Given the description of an element on the screen output the (x, y) to click on. 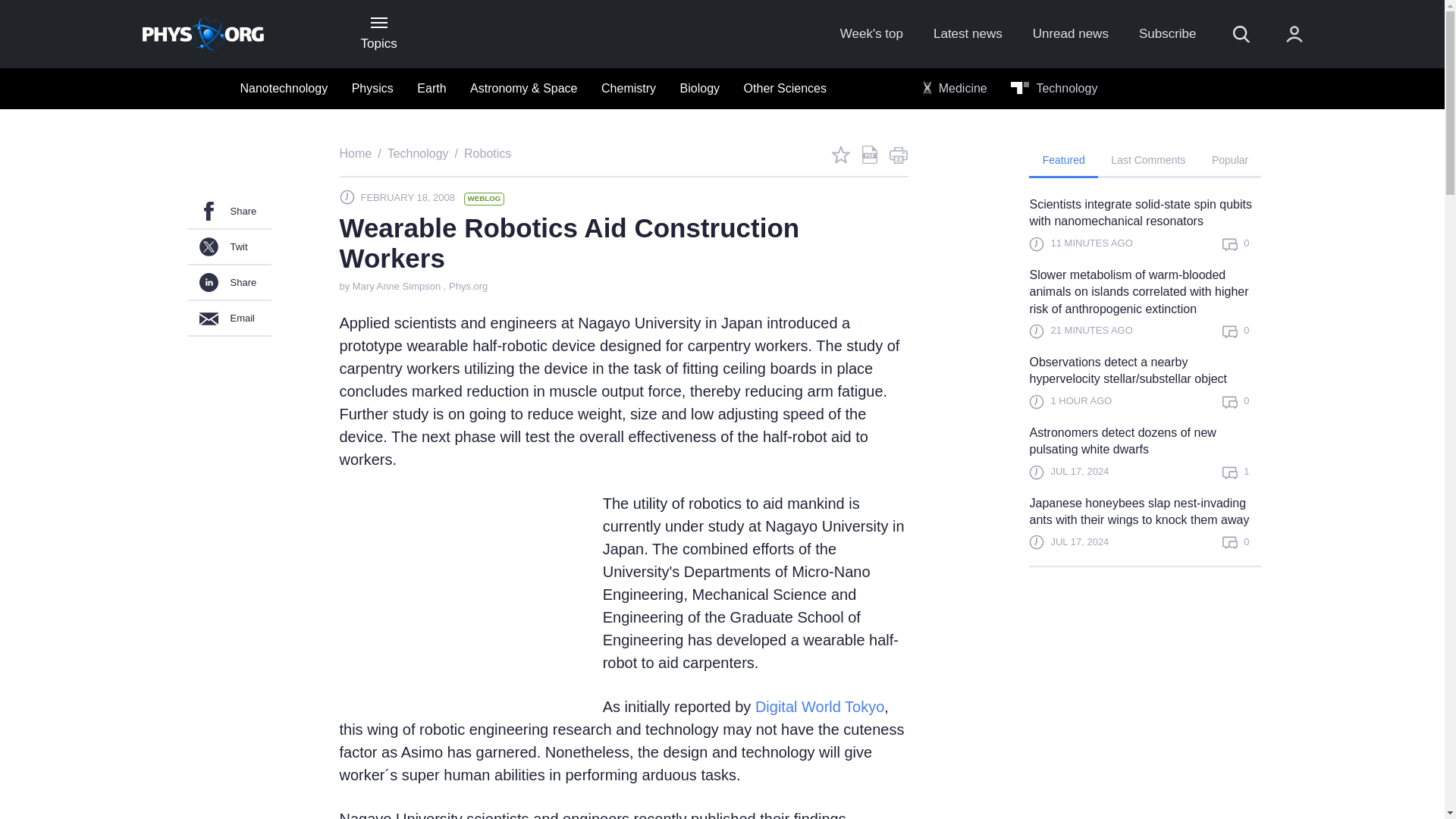
Chemistry (628, 88)
Share (228, 283)
Other Sciences (785, 88)
Subscribe (1167, 34)
Topics (378, 33)
Biology (699, 88)
Technology (1054, 88)
Latest news (968, 34)
Home (355, 153)
Share (228, 212)
Print (898, 154)
Save as pdf file (869, 154)
Earth (430, 88)
Nanotechnology (282, 88)
Robotics (487, 153)
